Given the description of an element on the screen output the (x, y) to click on. 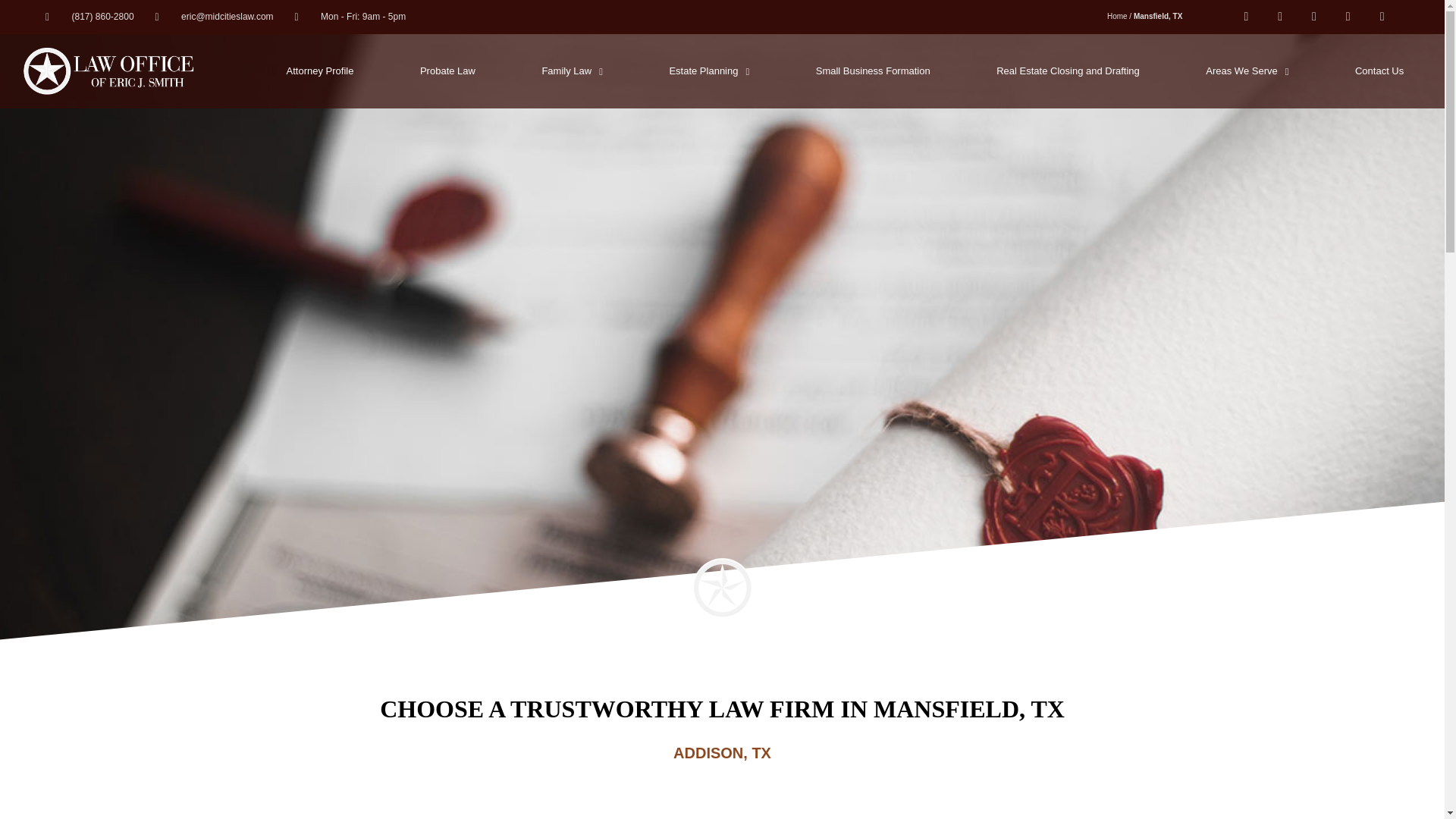
Twitter (1314, 17)
Google (1347, 17)
Calendar-alt (1382, 17)
Home (1116, 16)
Facebook-f (1245, 17)
Linkedin-in (1280, 17)
